Given the description of an element on the screen output the (x, y) to click on. 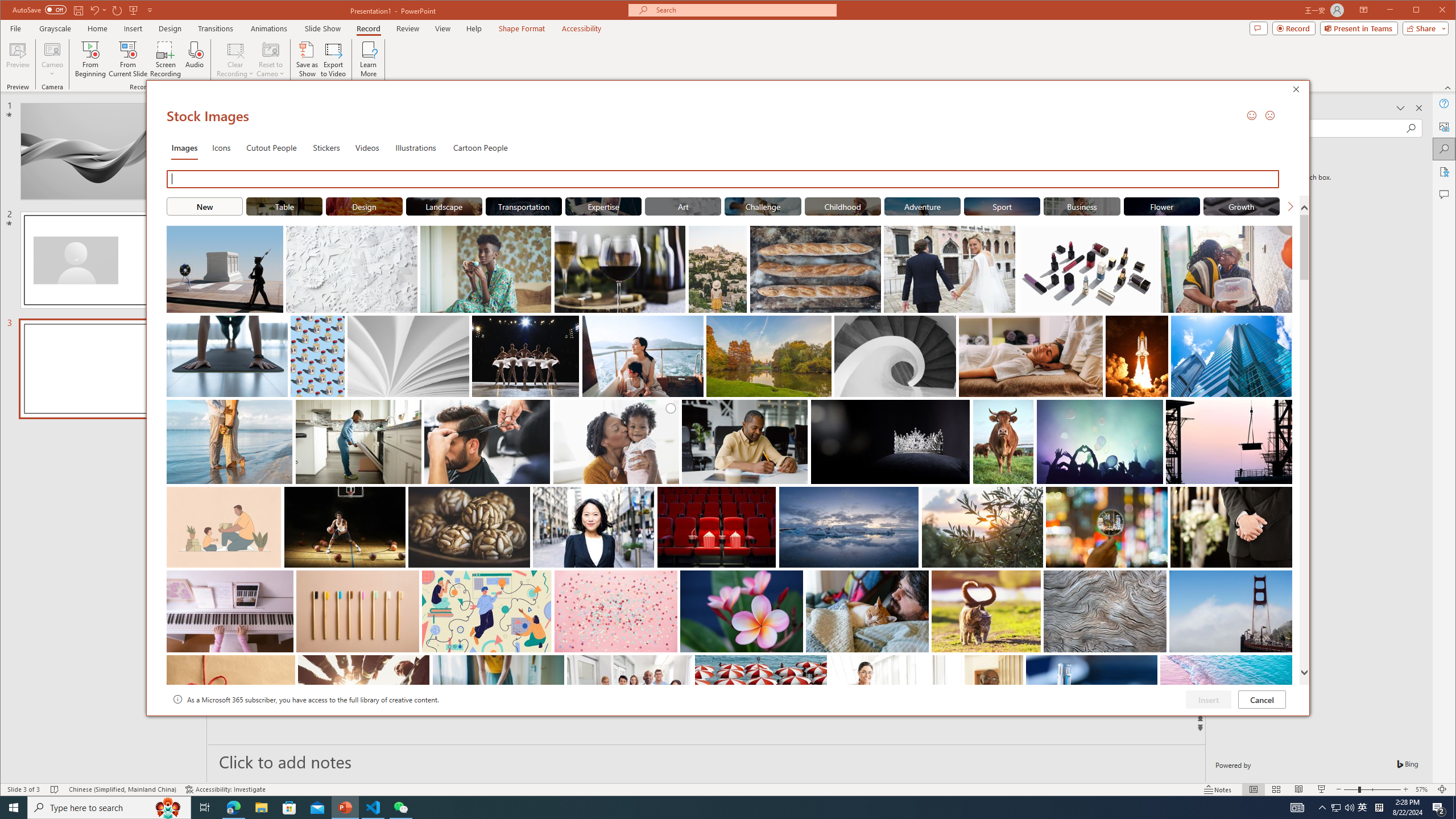
Send a Frown (1269, 115)
"Expertise" Stock Images. (603, 206)
